Given the description of an element on the screen output the (x, y) to click on. 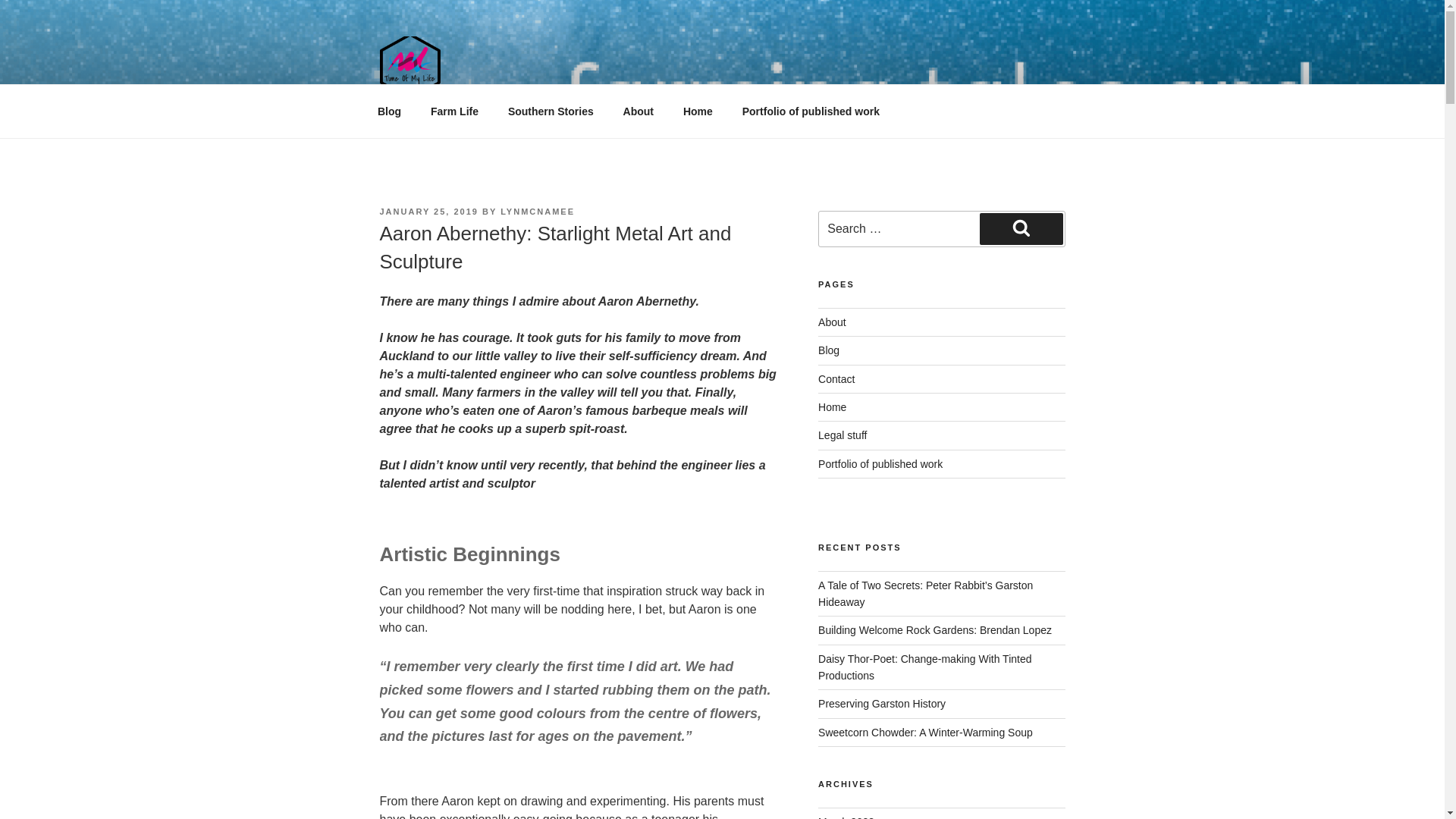
Portfolio of published work (810, 110)
About (638, 110)
JANUARY 25, 2019 (427, 211)
LYNMCNAMEE (537, 211)
Home (697, 110)
Southern Stories (551, 110)
TIME OF MY LIFE (507, 119)
Blog (388, 110)
Farm Life (454, 110)
